Given the description of an element on the screen output the (x, y) to click on. 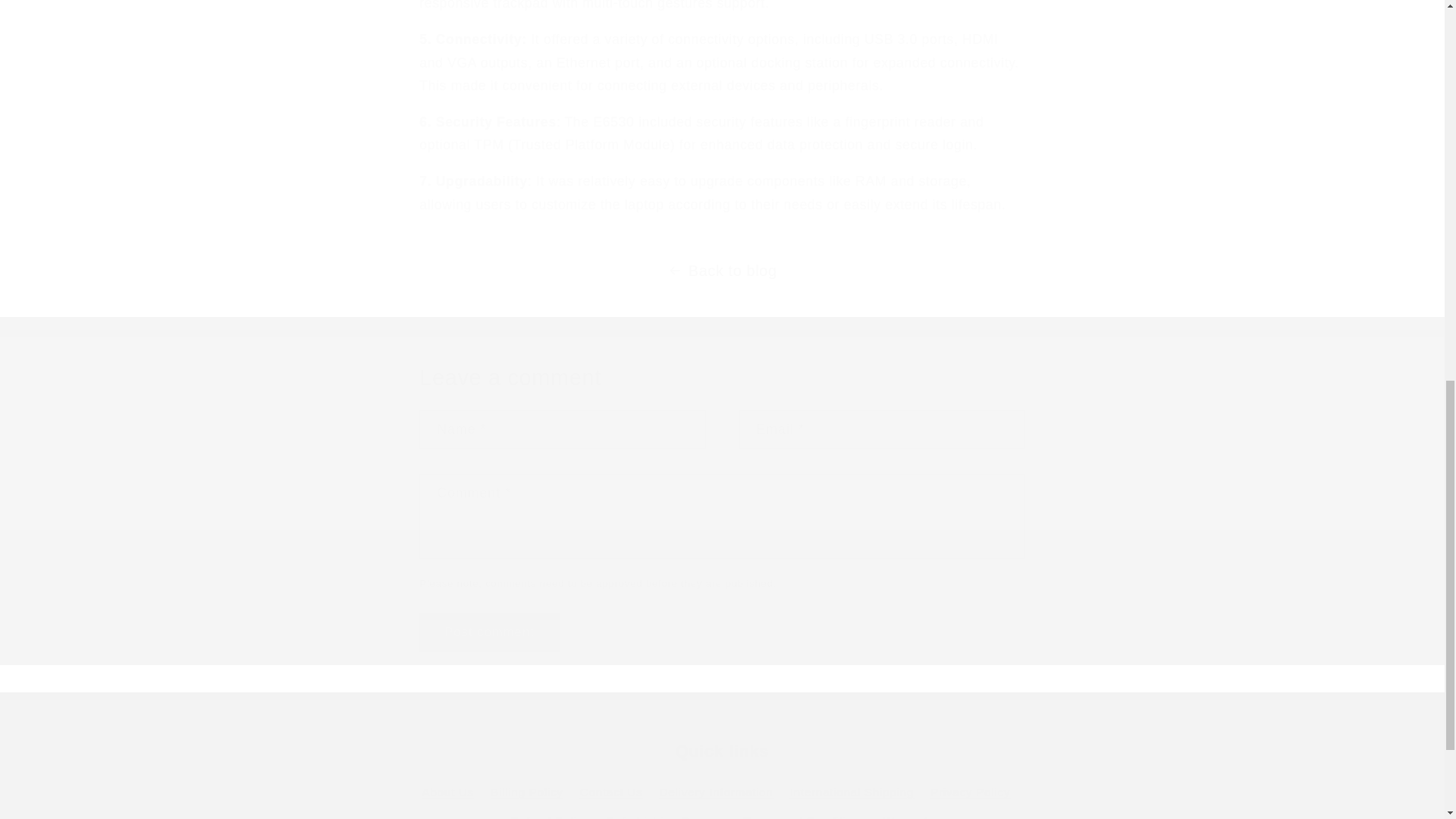
Billing Policy (526, 792)
About Us (448, 794)
Post comment (489, 631)
International Shipping (852, 792)
Privacy Policy (970, 792)
Delivery Information (716, 792)
Refund Policy (550, 812)
Post comment (489, 631)
Contact Us (611, 792)
